Given the description of an element on the screen output the (x, y) to click on. 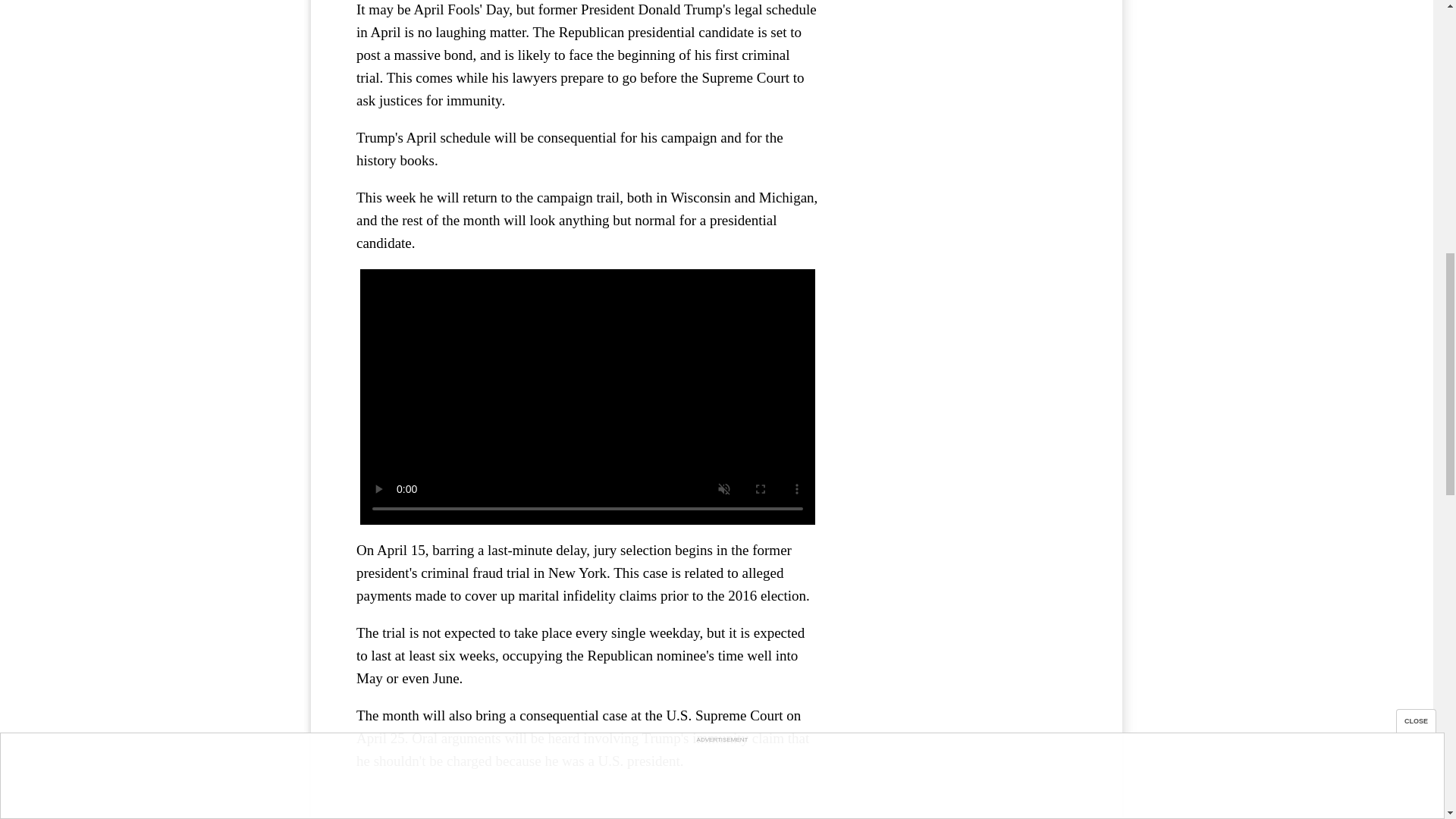
3rd party ad content (962, 48)
